Given the description of an element on the screen output the (x, y) to click on. 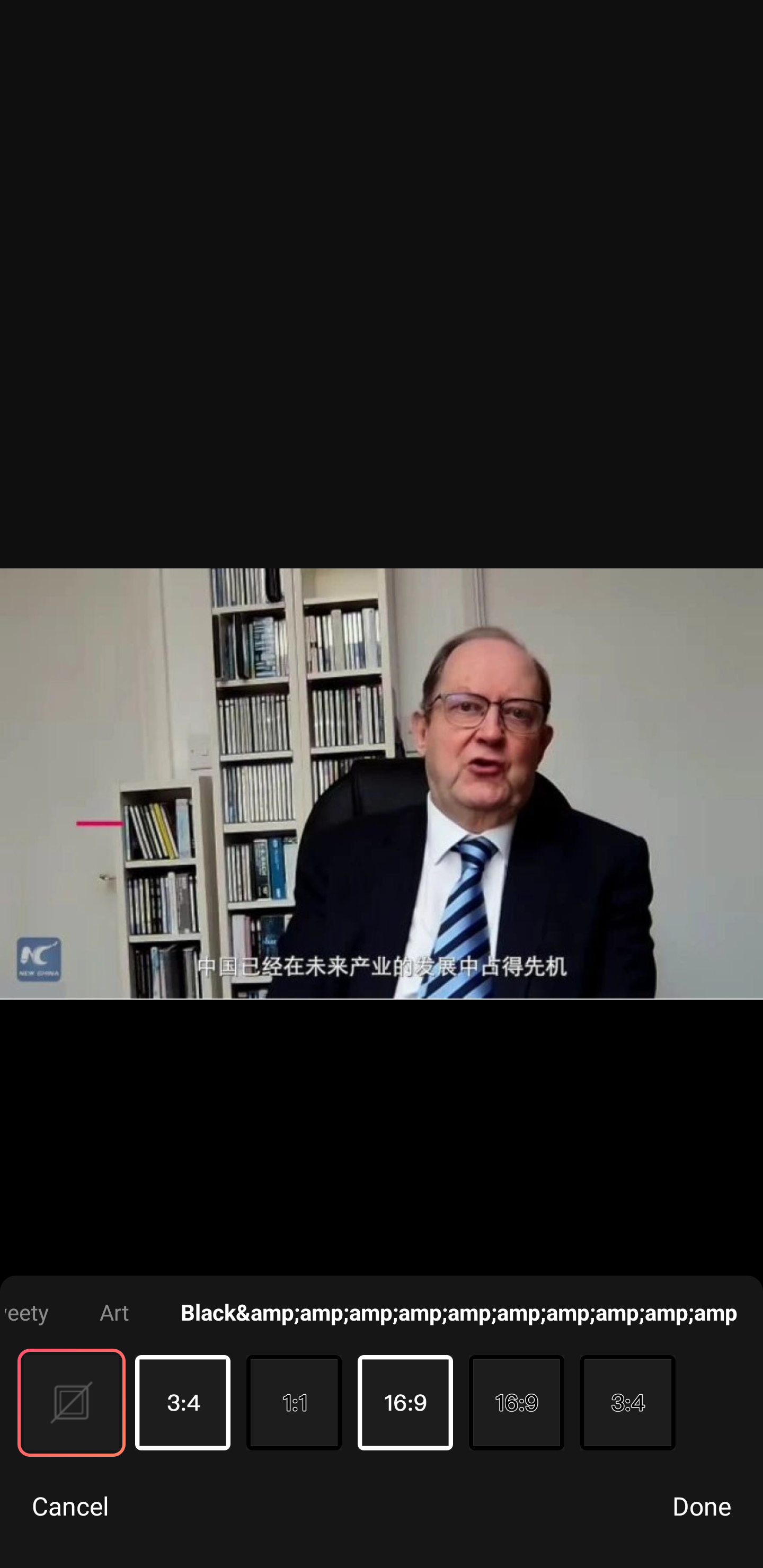
Sweety (26, 1312)
Art (114, 1312)
Black&amp;amp;amp;amp;amp;amp;amp;amp;amp;amp (458, 1312)
Cancel (70, 1505)
Done (701, 1505)
